Given the description of an element on the screen output the (x, y) to click on. 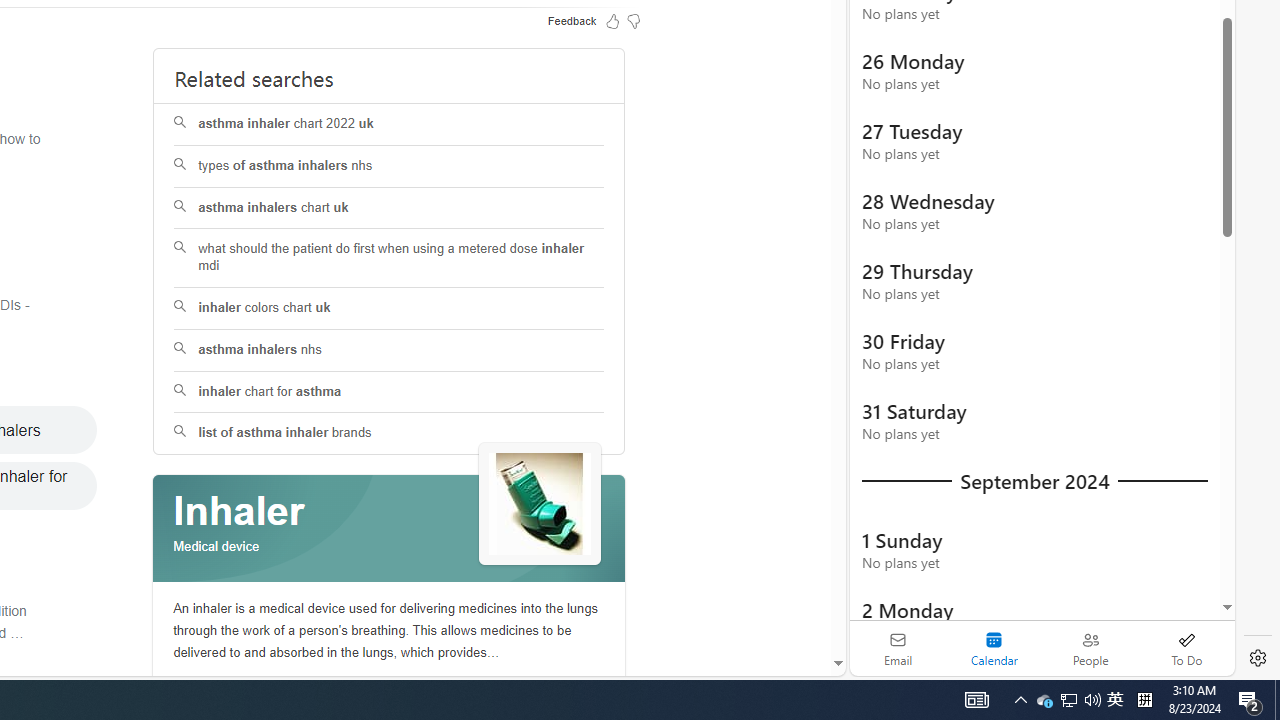
Feedback Like (612, 20)
inhaler colors chart uk (388, 308)
types of asthma inhalers nhs (388, 165)
asthma inhalers nhs (389, 350)
list of asthma inhaler brands (389, 434)
